Given the description of an element on the screen output the (x, y) to click on. 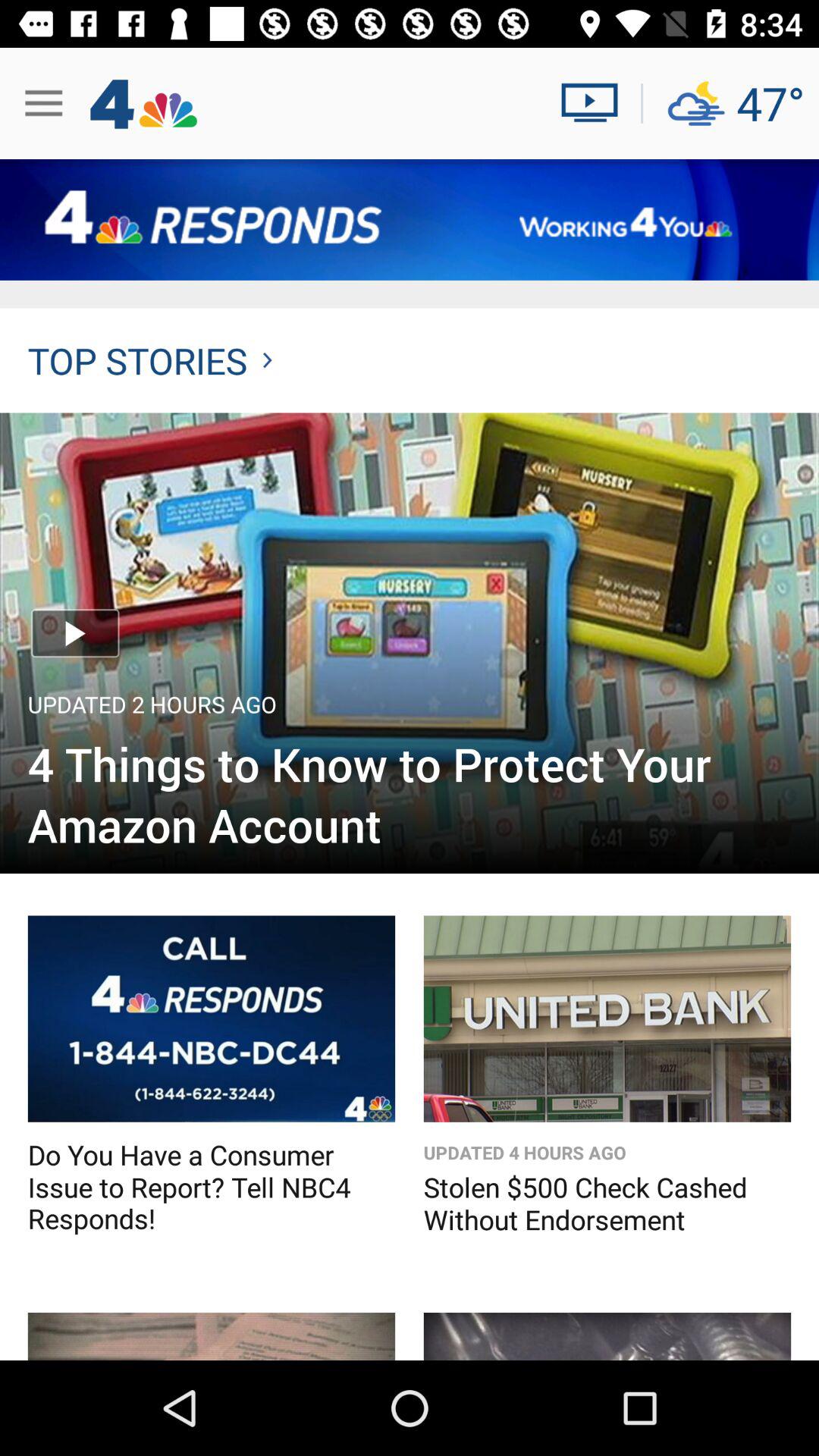
call 4 responds number (211, 1018)
